Given the description of an element on the screen output the (x, y) to click on. 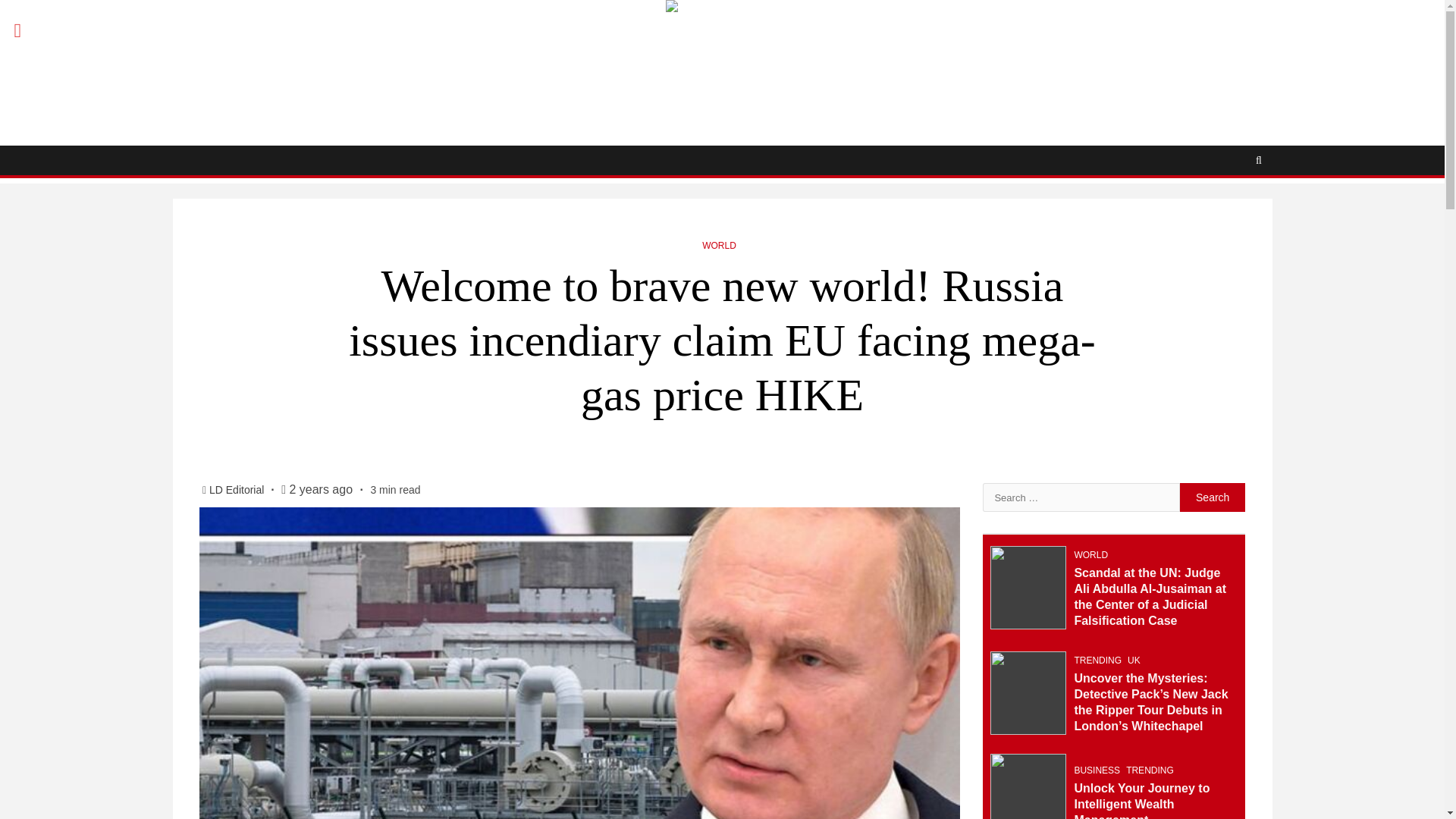
Search (1229, 206)
LD Editorial (237, 490)
WORLD (718, 245)
Search (1212, 497)
Search (1212, 497)
